Given the description of an element on the screen output the (x, y) to click on. 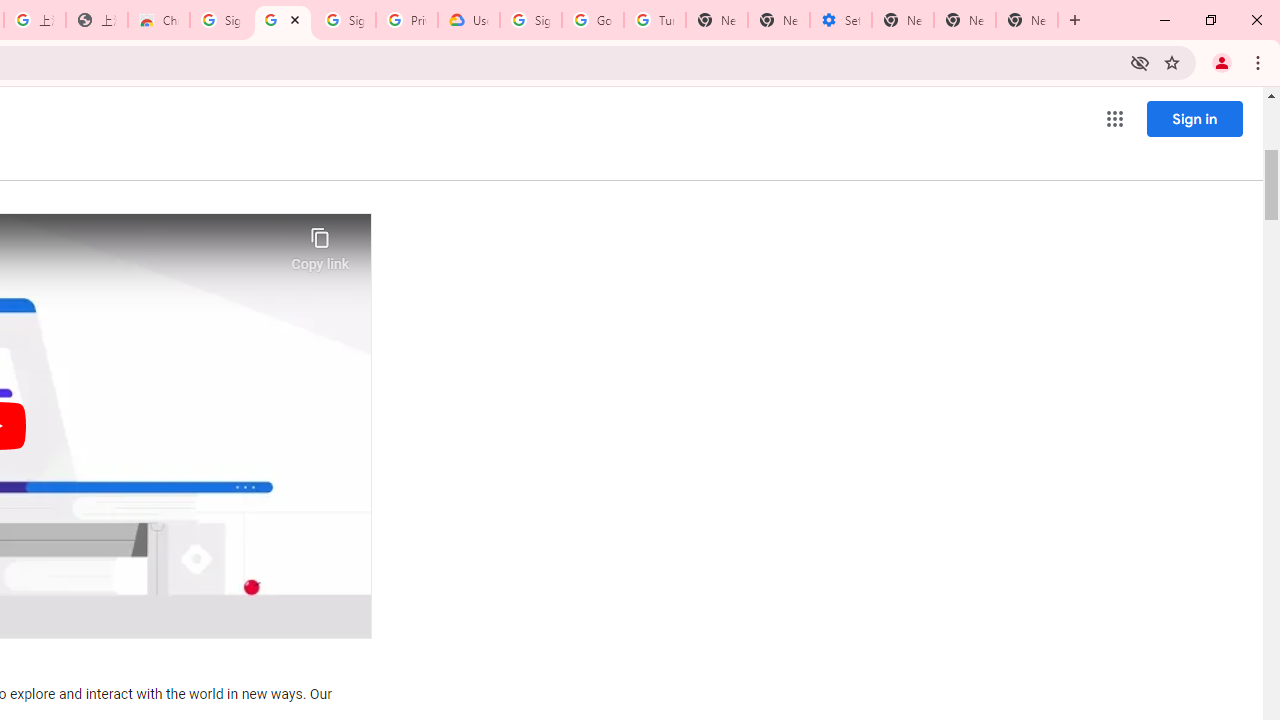
Sign in - Google Accounts (530, 20)
Turn cookies on or off - Computer - Google Account Help (654, 20)
Google Account Help (592, 20)
Sign in - Google Accounts (344, 20)
Settings - System (840, 20)
Copy link (319, 244)
